Given the description of an element on the screen output the (x, y) to click on. 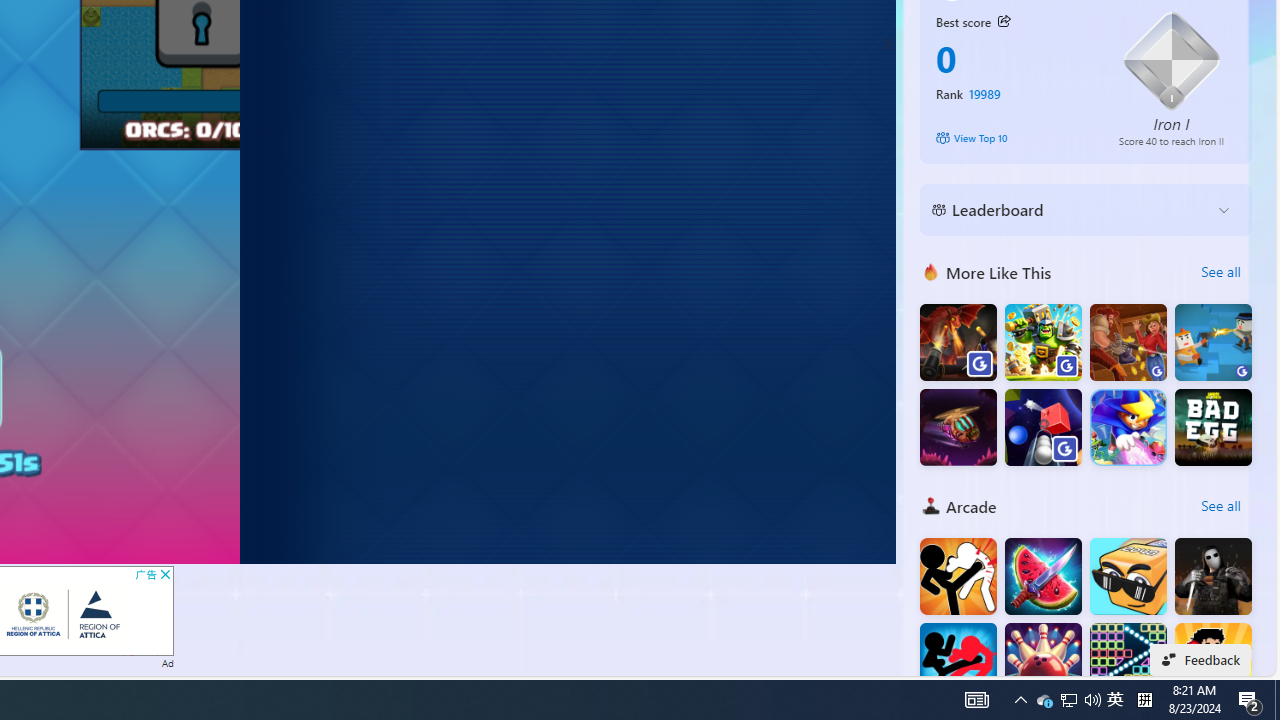
Fruit Chopper (1042, 576)
Class: button (1004, 21)
Shape Smash (1042, 427)
Dragon Annihilation (958, 342)
Super Bowling Mania (1042, 661)
Bricks Breaker Deluxe Crusher (1128, 661)
See all (1220, 506)
Bad Egg (1213, 427)
Stickman fighter : Epic battle (958, 661)
Class: control (885, 43)
Arcade (931, 505)
Cubes2048 (1128, 576)
More Like This (931, 271)
